Given the description of an element on the screen output the (x, y) to click on. 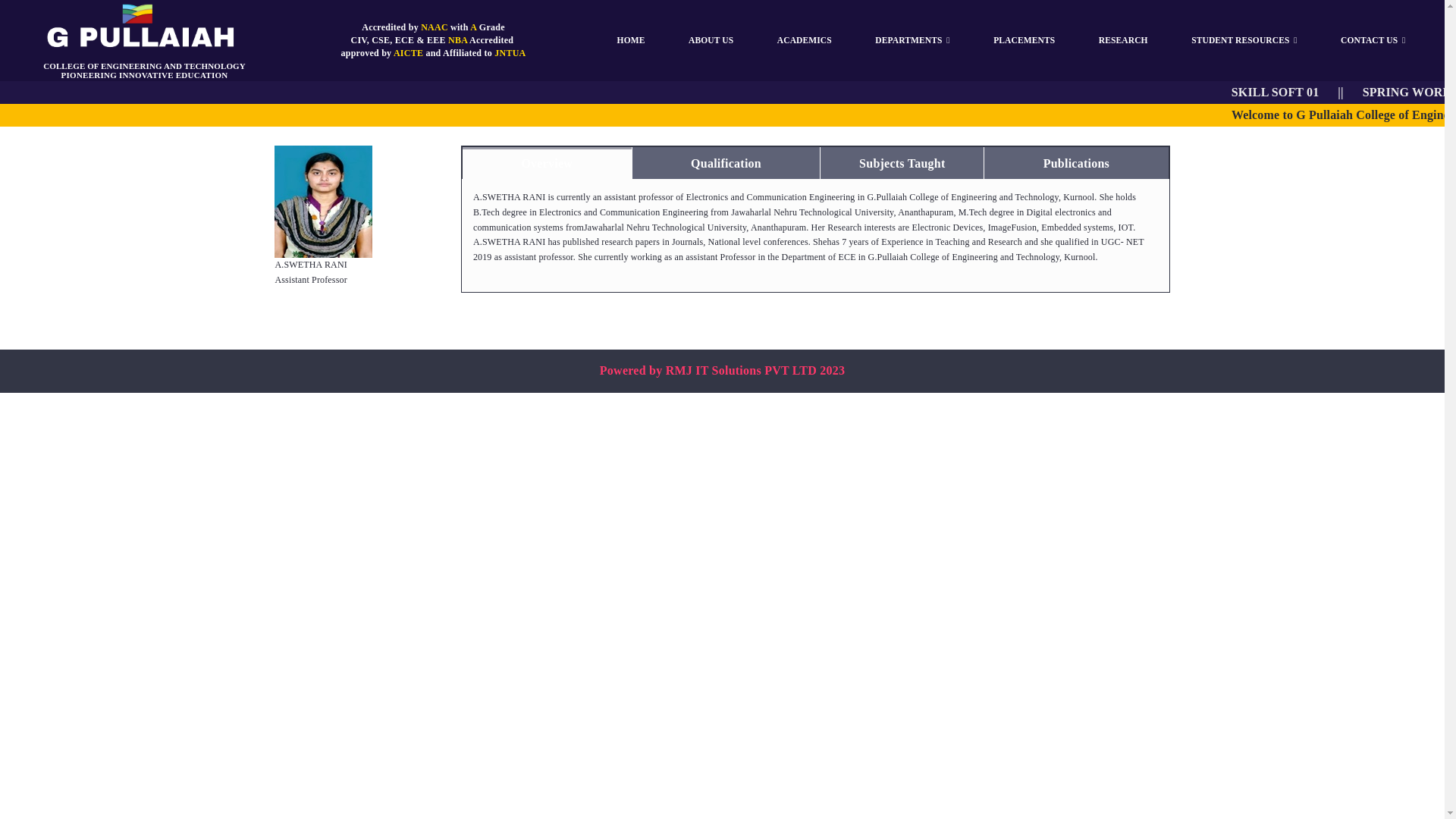
ABOUT US (710, 40)
RESEARCH (1122, 40)
DEPARTMENTS (911, 40)
HOME (630, 40)
STUDENT RESOURCES (1244, 40)
PLACEMENTS (1024, 40)
approved by AICTE and Affiliated to JNTUA (432, 52)
NAAC (434, 27)
ACADEMICS (804, 40)
NBA (458, 40)
